Given the description of an element on the screen output the (x, y) to click on. 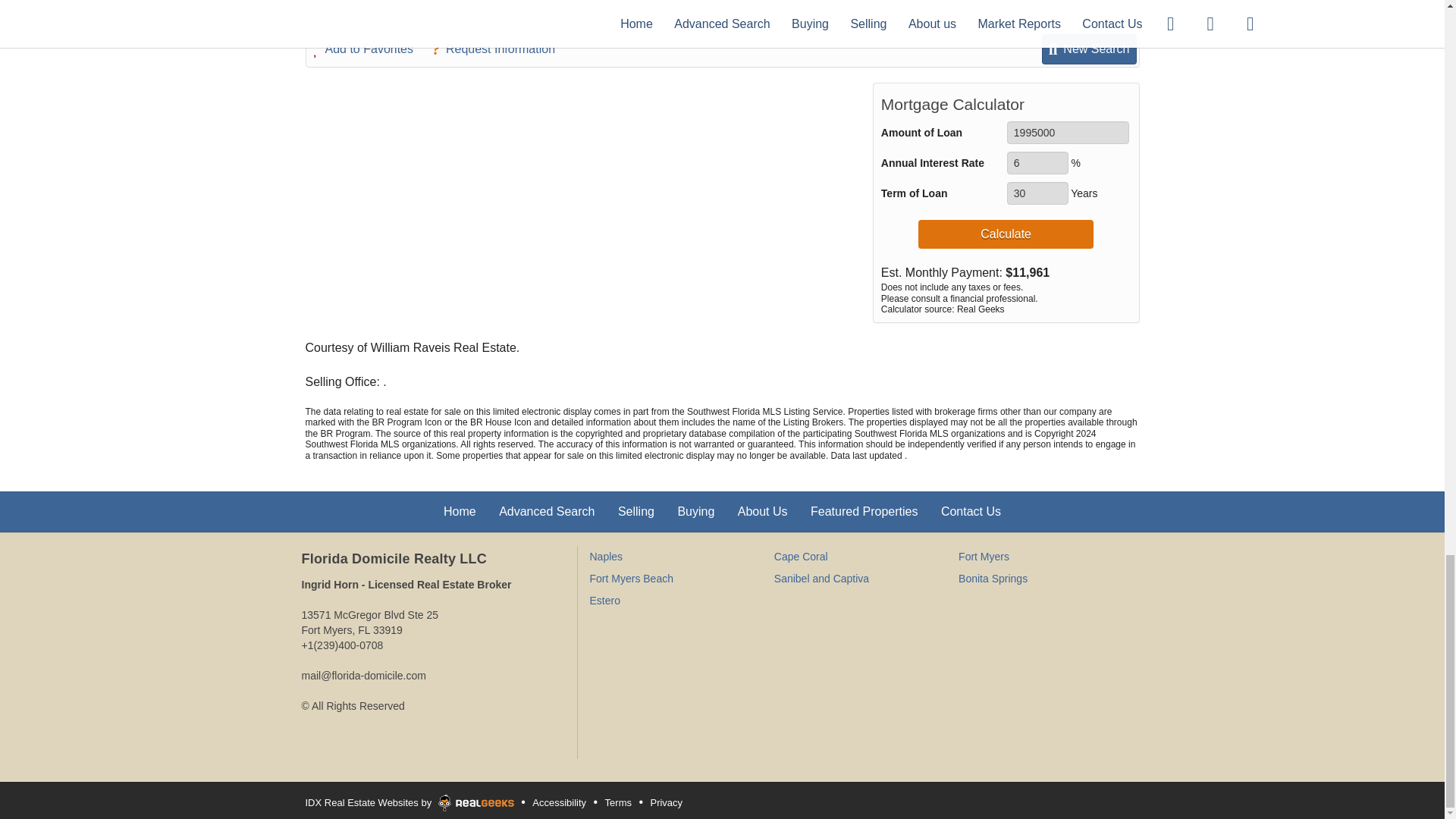
1995000 (1068, 132)
6 (1037, 162)
30 (1037, 192)
